Given the description of an element on the screen output the (x, y) to click on. 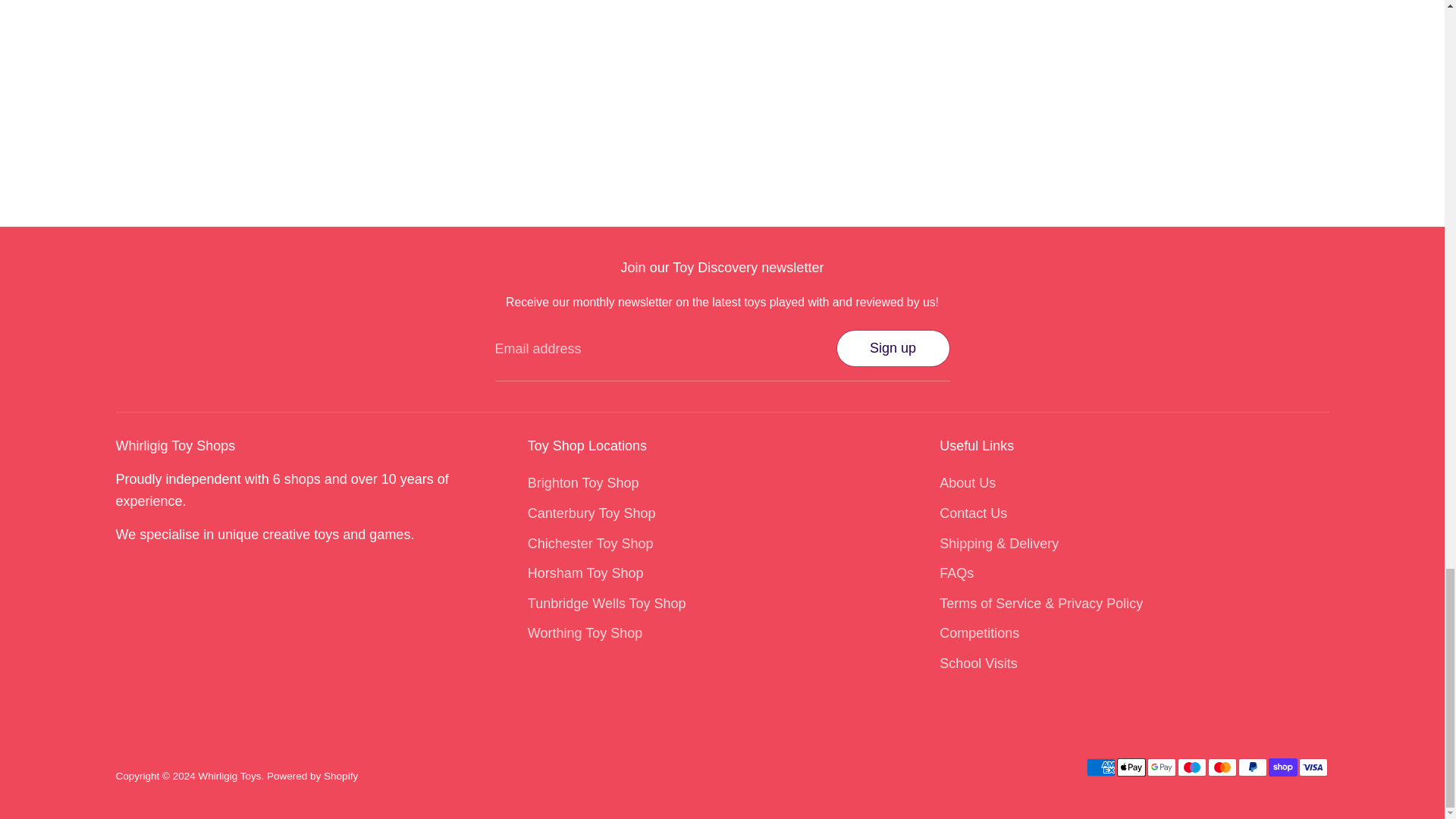
Visa (1312, 767)
Google Pay (1160, 767)
Mastercard (1221, 767)
Apple Pay (1130, 767)
PayPal (1251, 767)
American Express (1100, 767)
Shop Pay (1282, 767)
Maestro (1190, 767)
